Given the description of an element on the screen output the (x, y) to click on. 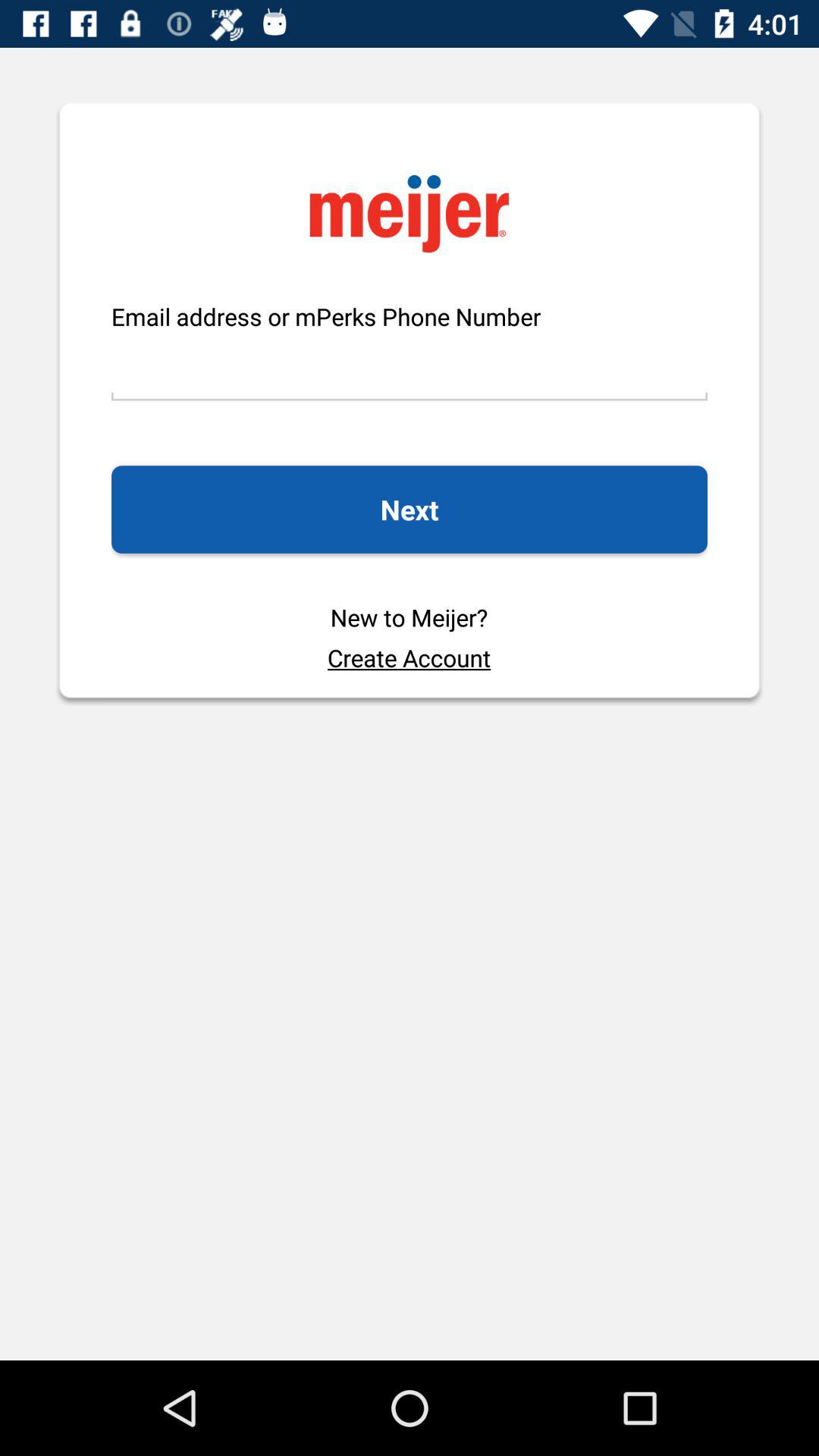
press the item above the next (409, 367)
